Given the description of an element on the screen output the (x, y) to click on. 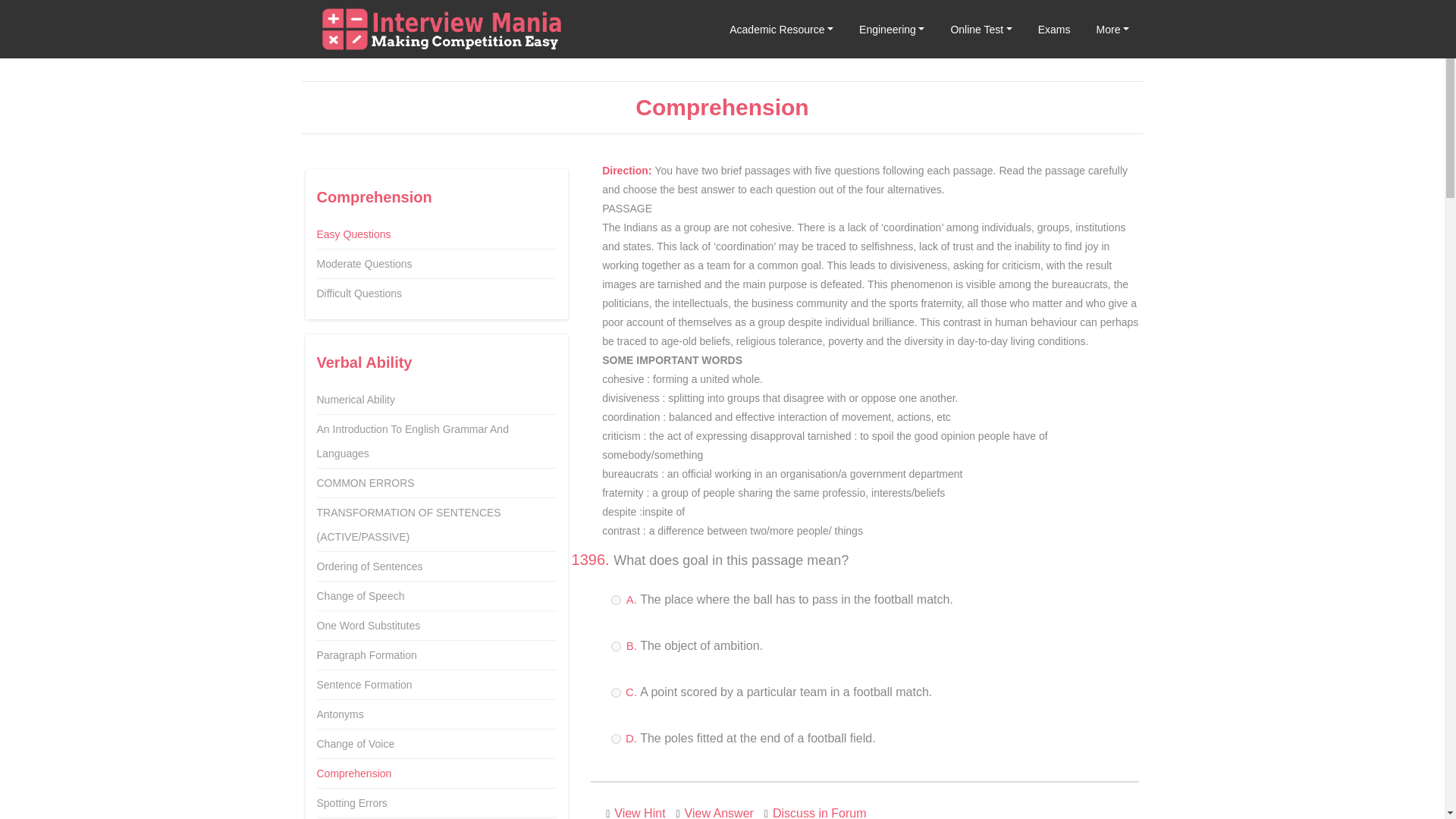
b (616, 646)
Difficult Questions (360, 293)
Change of Speech (360, 595)
Online Test (980, 29)
Engineering (891, 29)
More (1112, 29)
Numerical Ability (355, 399)
Easy Questions (354, 234)
One Word Substitutes (368, 625)
Ordering of Sentences (370, 566)
